Given the description of an element on the screen output the (x, y) to click on. 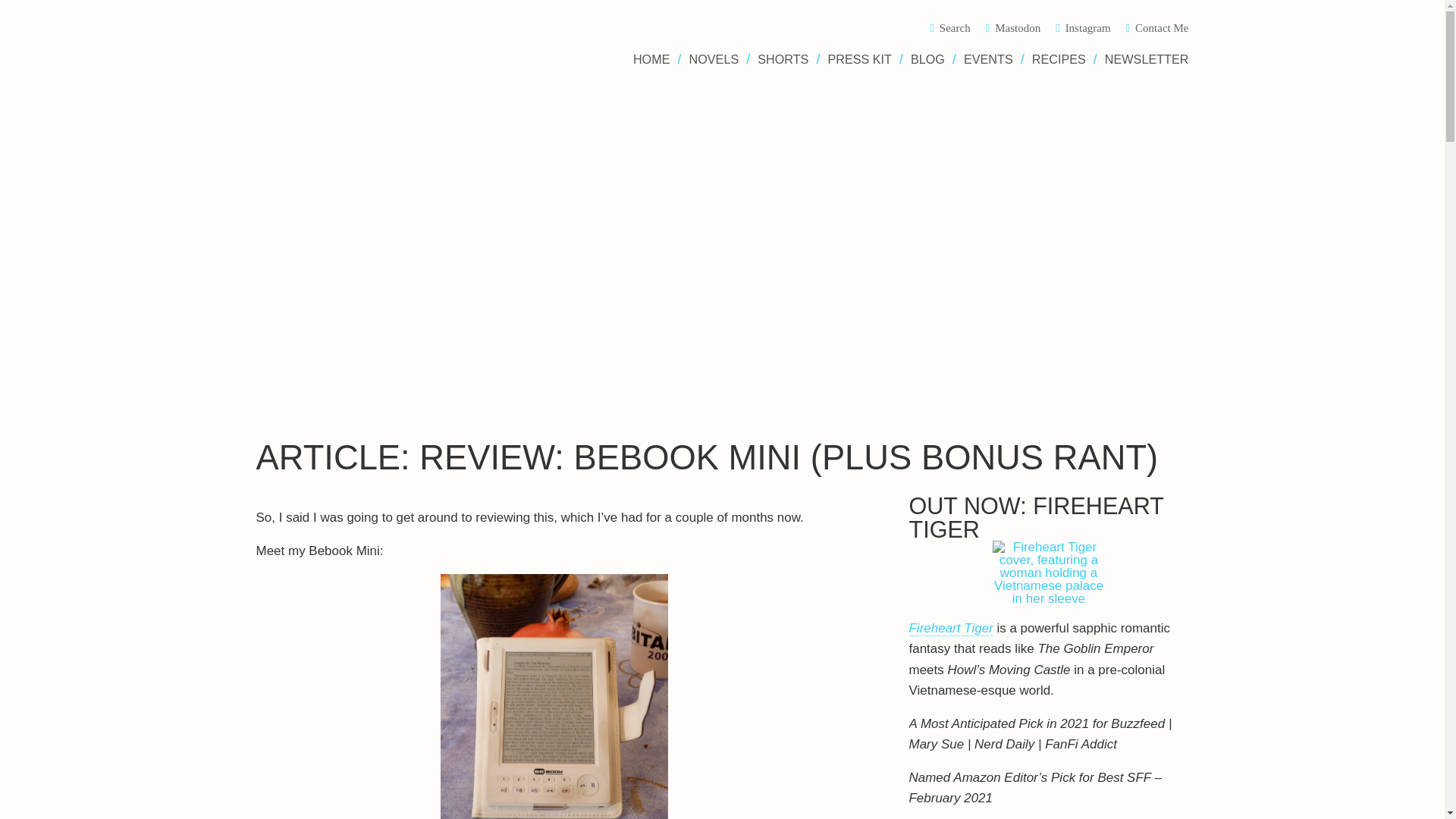
NEWSLETTER (1141, 59)
Contact Me (1157, 28)
Search Website (957, 28)
HOME (655, 59)
RECIPES (1056, 59)
NOVELS (711, 59)
SHORTS (780, 59)
Follow me on Instagram (1090, 28)
Instagram (1090, 28)
Search (957, 28)
